Given the description of an element on the screen output the (x, y) to click on. 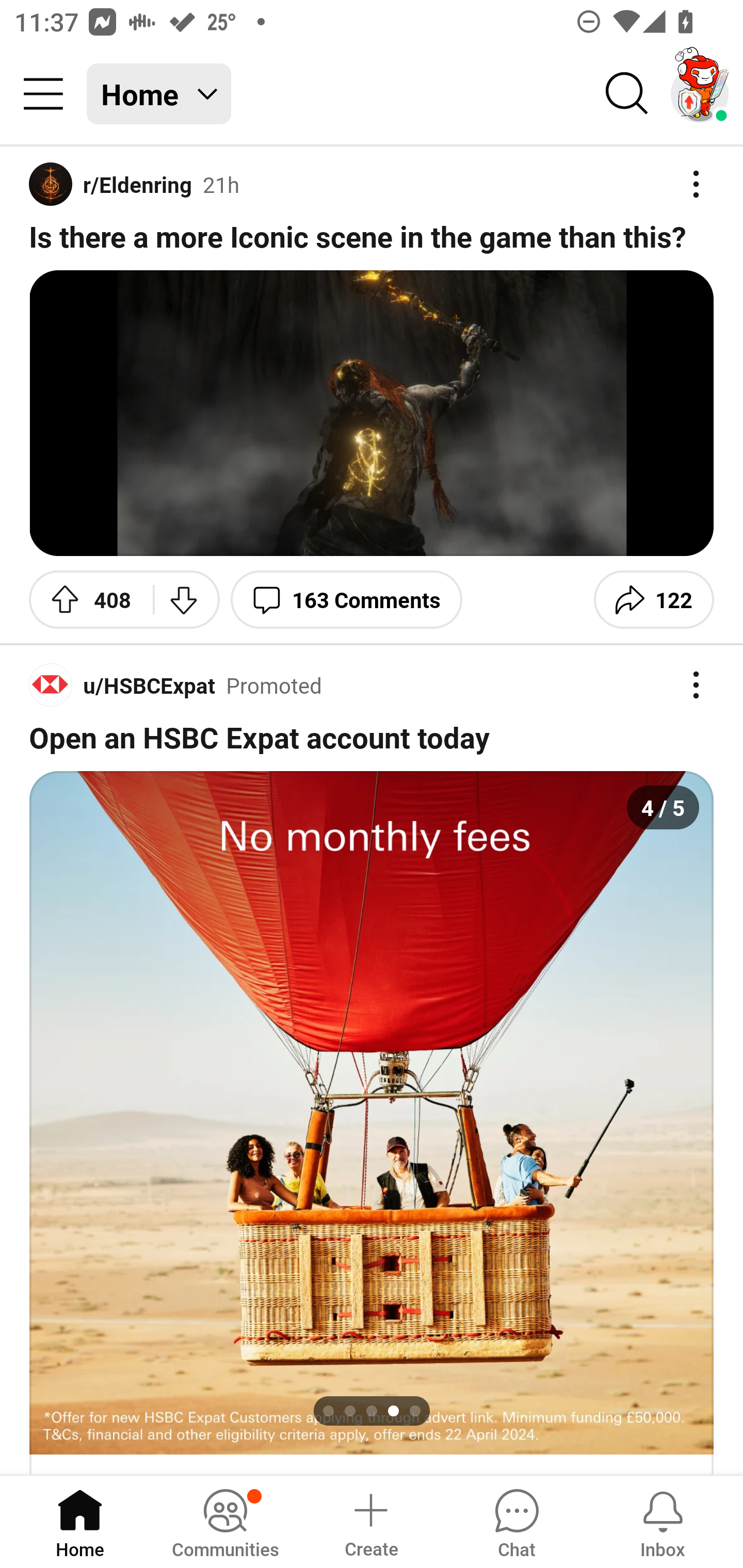
Community menu (43, 93)
Home Home feed (158, 93)
Search (626, 93)
TestAppium002 account (699, 93)
Image 4 of 5 (371, 1113)
Home (80, 1520)
Communities, has notifications Communities (225, 1520)
Create a post Create (370, 1520)
Chat (516, 1520)
Inbox (662, 1520)
